Given the description of an element on the screen output the (x, y) to click on. 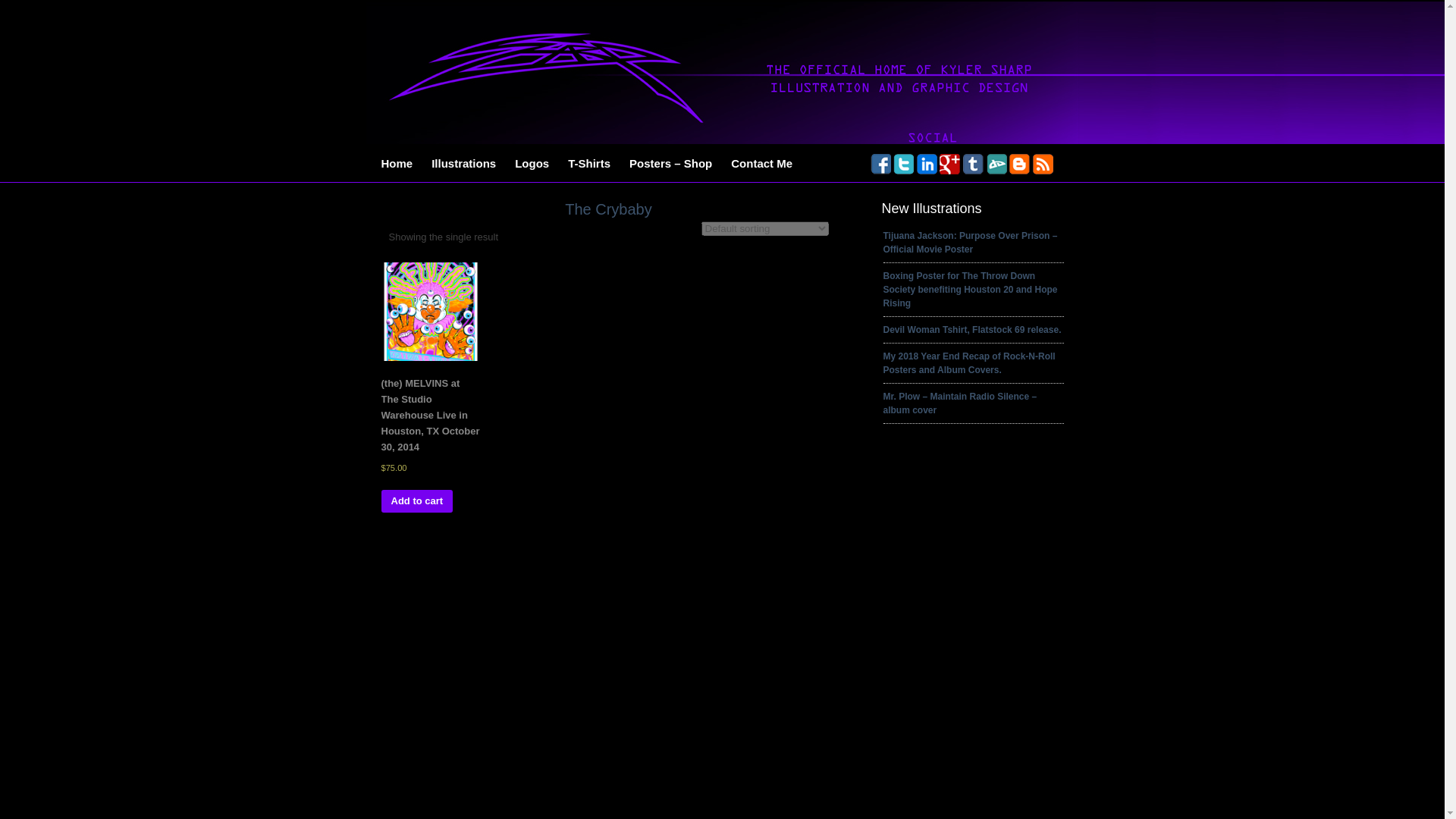
Skip to content (380, 180)
T-Shirts (588, 163)
Skip to content (380, 180)
Illustrations (463, 163)
Logos (531, 163)
Permanent Link to The Crybaby (606, 207)
The Crybaby (606, 207)
Contact Me (761, 163)
Add to cart (416, 500)
Devil Woman Tshirt, Flatstock 69 release. (971, 329)
Home (396, 163)
